Given the description of an element on the screen output the (x, y) to click on. 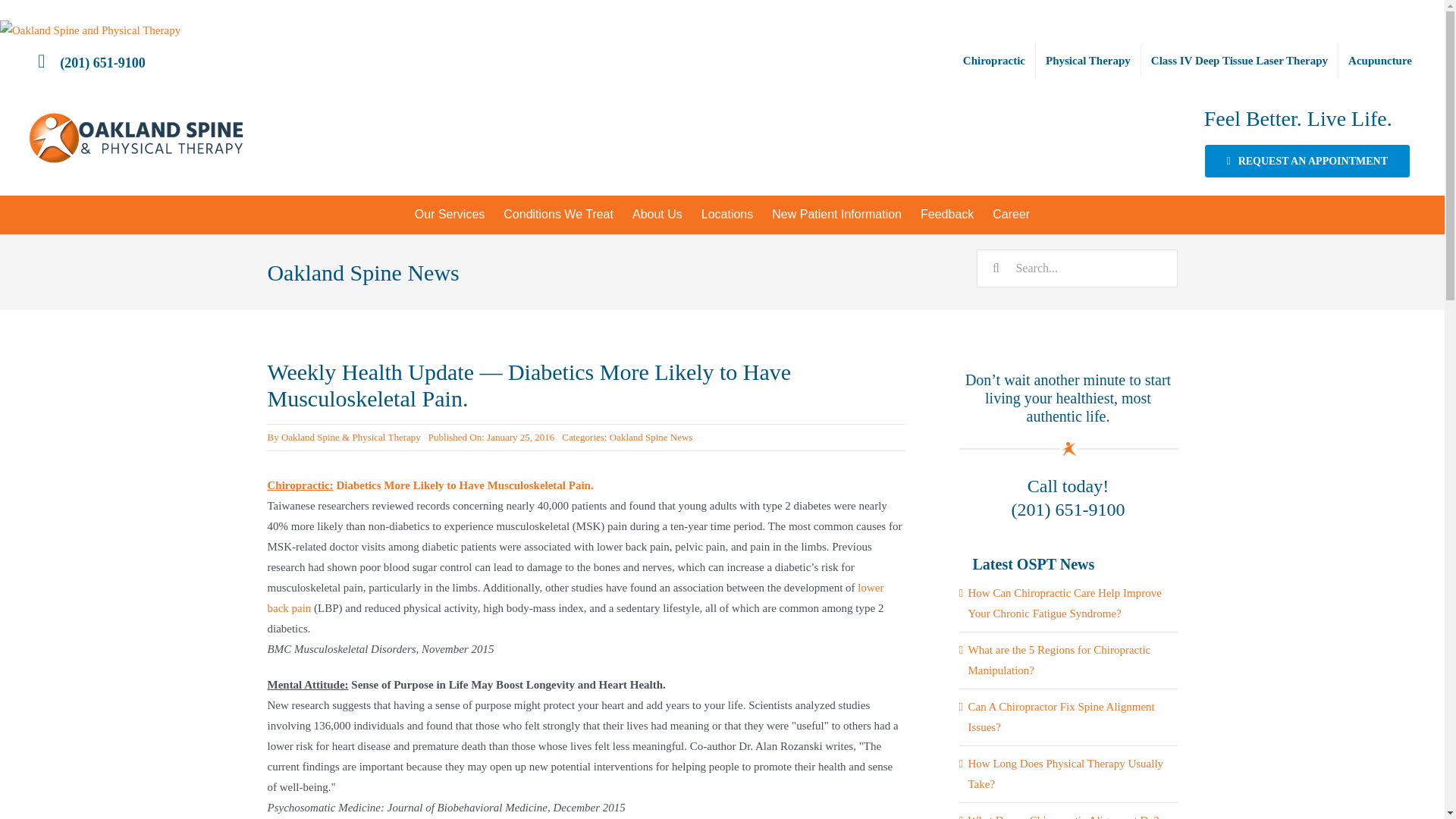
Acupuncture (1380, 60)
Conditions We Treat (559, 214)
REQUEST AN APPOINTMENT (1307, 161)
Locations (726, 214)
New Patient Information (836, 214)
lower back pain (574, 597)
Chiropractic (994, 60)
About Us (657, 214)
Our Services (448, 214)
Physical Therapy (1087, 60)
Appointment Request (1307, 161)
Oakland Spine and Physical Therapy  (90, 30)
Feedback (947, 214)
Class IV Deep Tissue Laser Therapy (1239, 60)
